Given the description of an element on the screen output the (x, y) to click on. 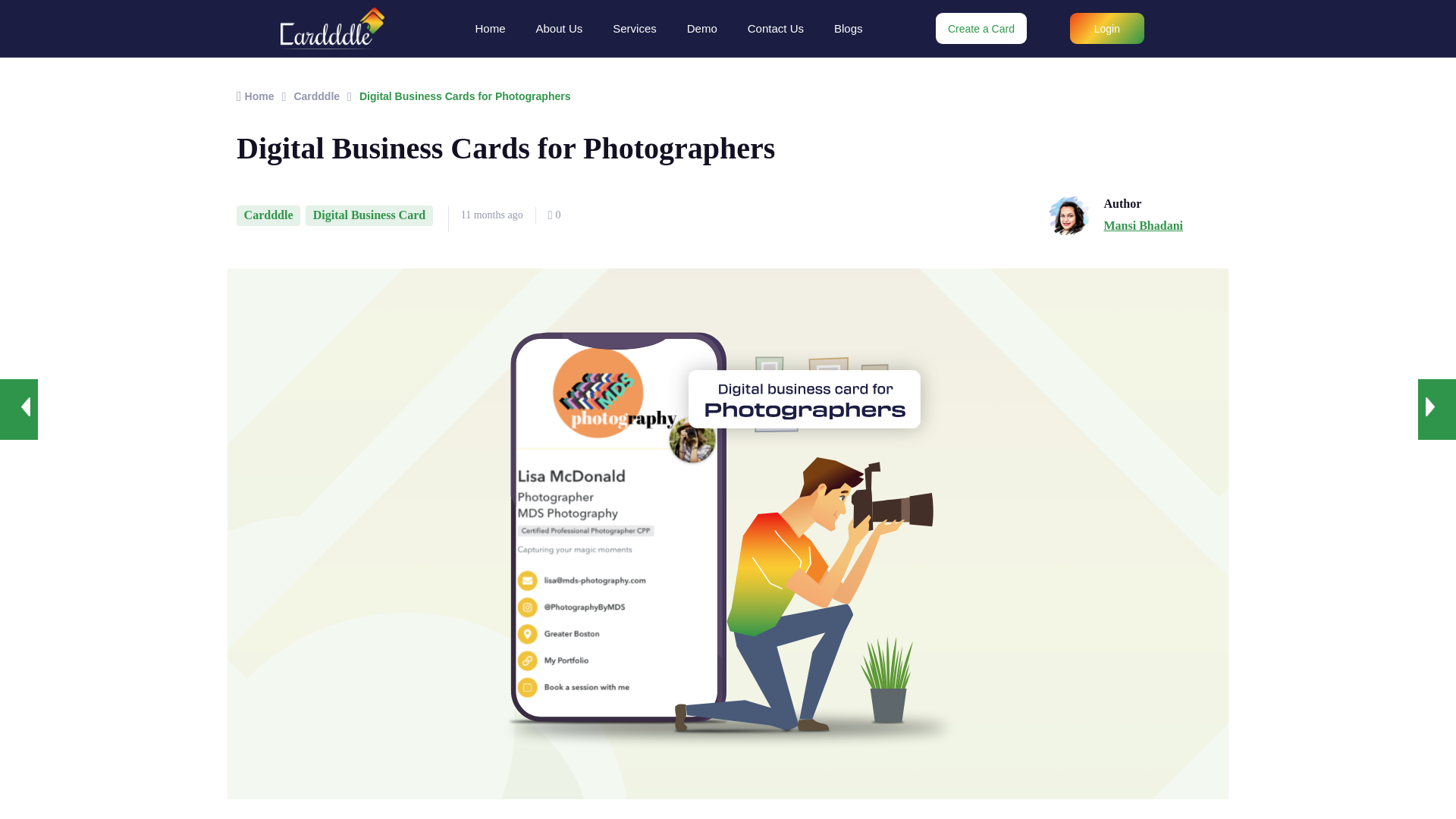
Digital Business Card (368, 215)
Contact Us (775, 28)
Demo (701, 28)
Blogs (847, 28)
Services (633, 28)
Create a Card (981, 28)
About Us (559, 28)
Home (489, 28)
Cardddle (267, 215)
Home (254, 95)
